Given the description of an element on the screen output the (x, y) to click on. 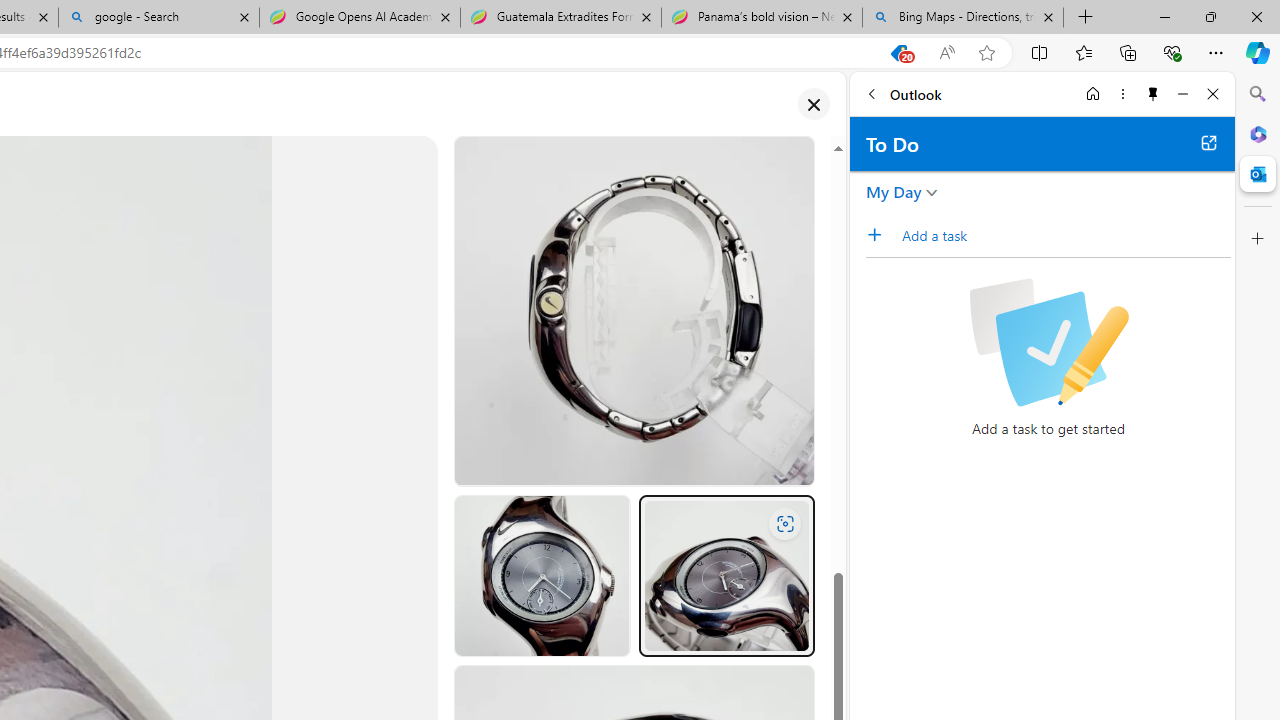
google - Search (158, 17)
You have the best price! Shopping in Microsoft Edge, 20 (898, 53)
My Day (893, 191)
Google Opens AI Academy for Startups - Nearshore Americas (359, 17)
